Given the description of an element on the screen output the (x, y) to click on. 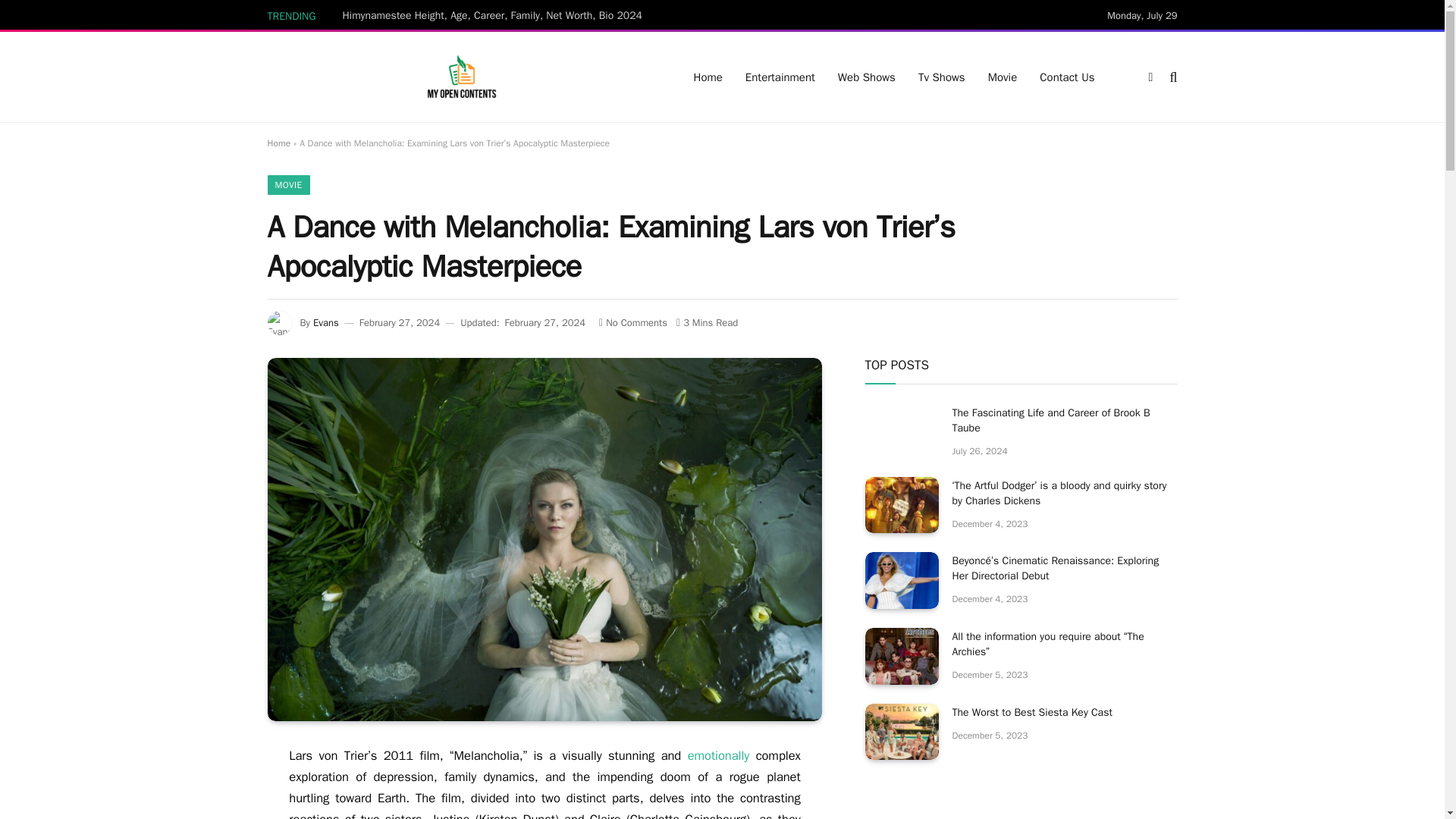
No Comments (632, 322)
Entertainment (780, 76)
Evans (326, 322)
Web Shows (867, 76)
Home (277, 143)
MOVIE (287, 184)
Switch to Dark Design - easier on eyes. (1149, 77)
myopencontents (460, 76)
Posts by Evans (326, 322)
